Given the description of an element on the screen output the (x, y) to click on. 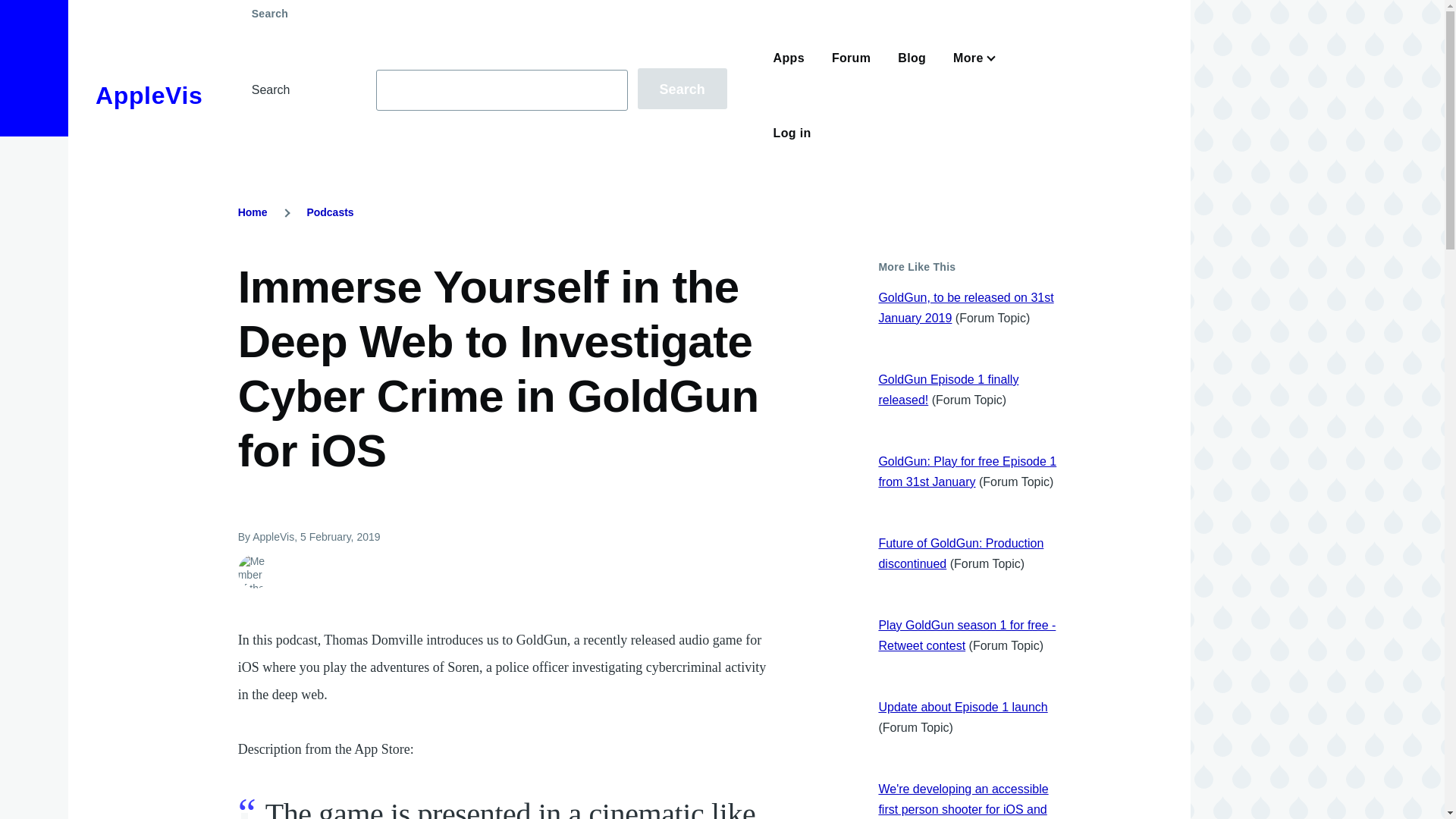
GoldGun: Play for free Episode 1 from 31st January (967, 471)
Search (681, 87)
Home (149, 94)
Search (681, 87)
GoldGun Episode 1 finally released! (947, 389)
Play GoldGun season 1 for free - Retweet contest (966, 635)
GoldGun, to be released on 31st January 2019 (964, 307)
Update about Episode 1 launch (961, 707)
Podcasts (329, 212)
AppleVis (149, 94)
Home (252, 212)
Skip to main content (595, 6)
Future of GoldGun: Production discontinued (960, 553)
